Given the description of an element on the screen output the (x, y) to click on. 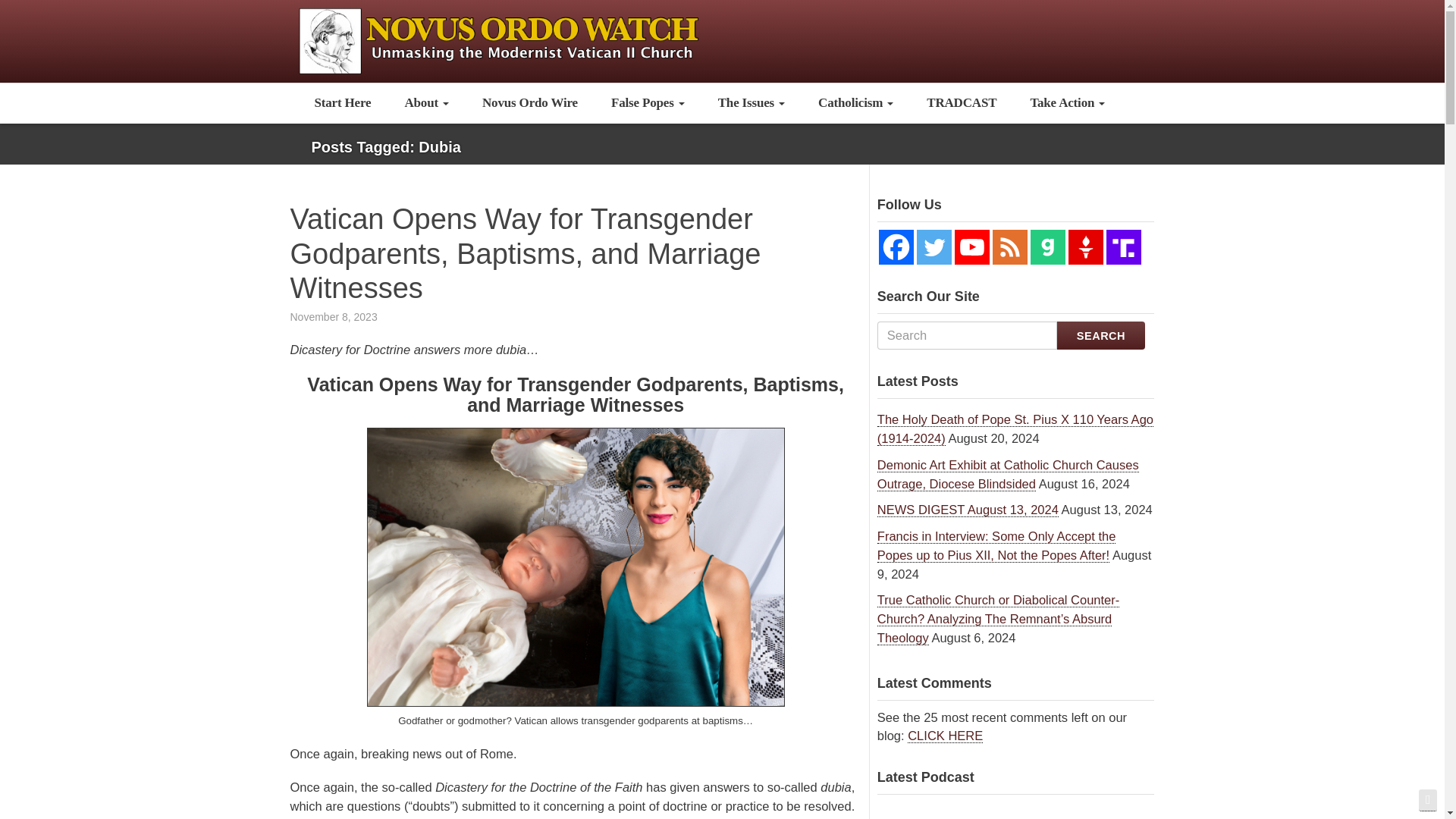
Novus Ordo Wire (529, 103)
Start Here (342, 103)
False Popes (647, 103)
Novus Ordo Wire (529, 103)
Start Here (342, 103)
About (426, 103)
False Popes (647, 103)
Novus Ordo Watch (515, 38)
The Issues (751, 103)
About (426, 103)
